Given the description of an element on the screen output the (x, y) to click on. 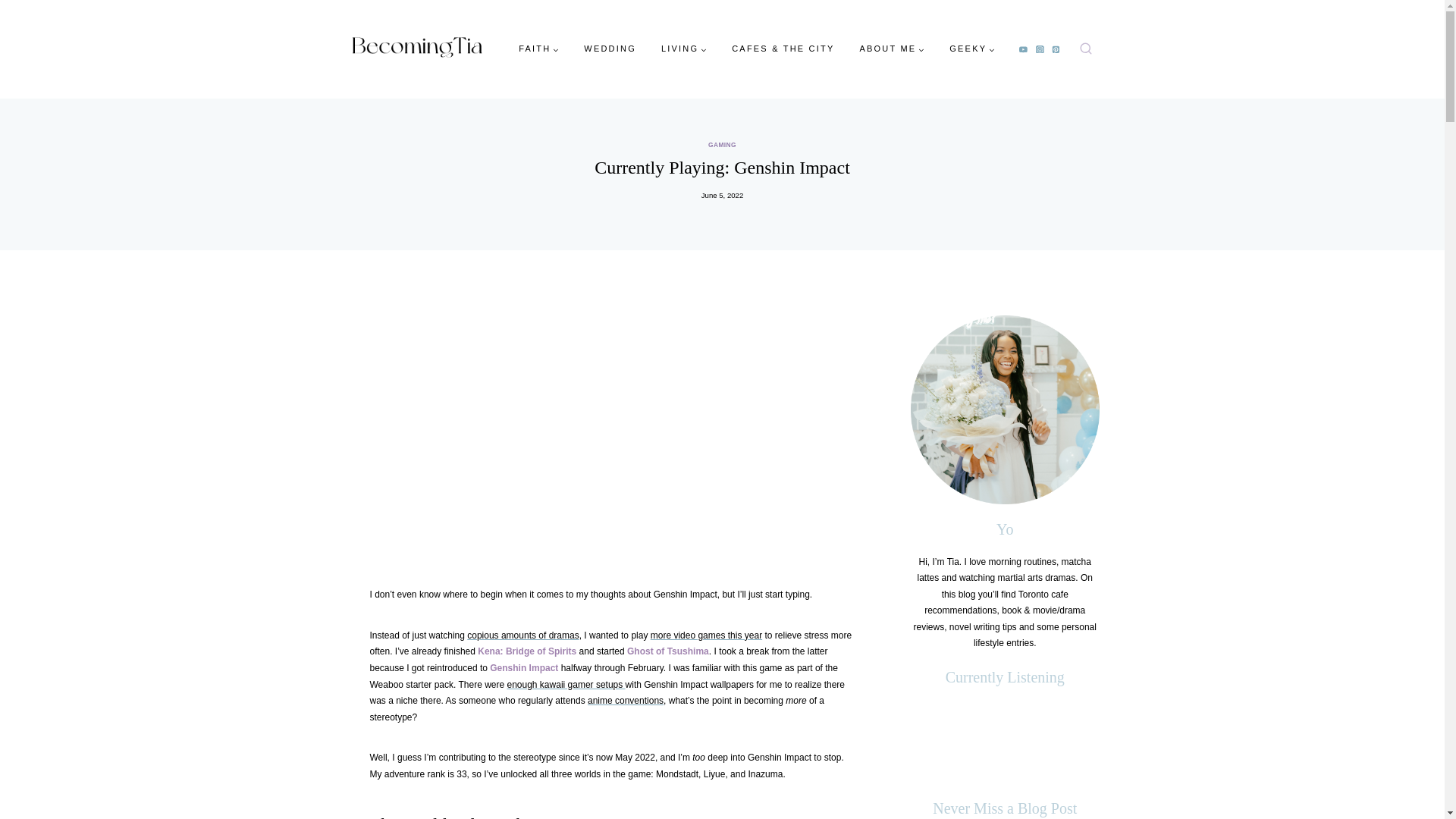
FAITH (539, 48)
LIVING (683, 48)
anime conventions (625, 700)
more video games this year (705, 634)
GEEKY (972, 48)
WEDDING (610, 48)
GAMING (721, 144)
enough kawaii gamer setups (565, 684)
ABOUT ME (892, 48)
Spotify Embed: worship (1005, 741)
copious amounts of dramas (522, 634)
